Given the description of an element on the screen output the (x, y) to click on. 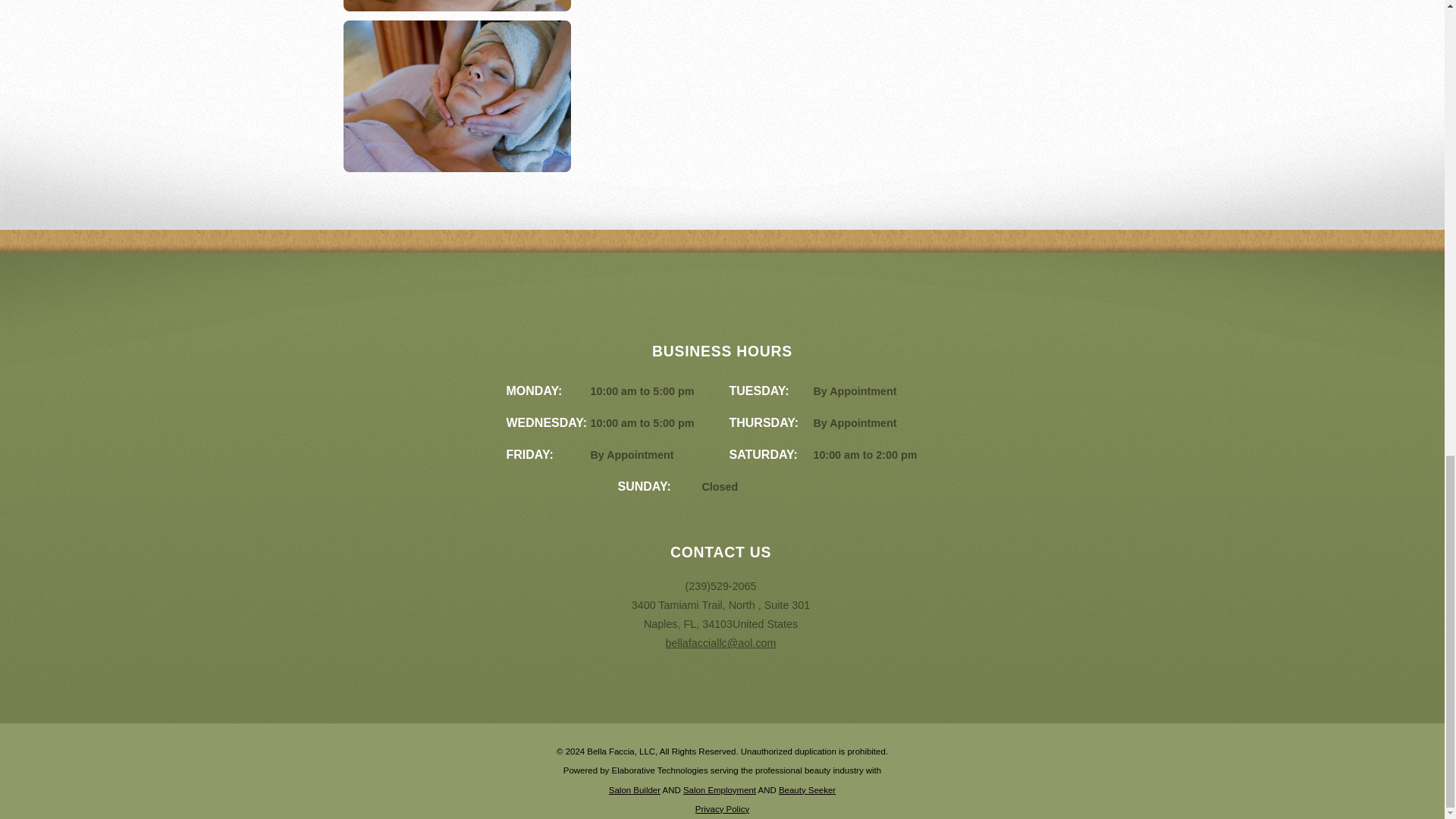
Salon Employment - Salon Jobs and Spa Jobs (718, 789)
Salon Builder (634, 789)
Salon Builder - Salon Websites and Spa Websites (634, 789)
Beauty Seeker (806, 789)
Salons, Spas, Health and Beauty Services in the USA (806, 789)
Privacy Policy (722, 809)
Salon Employment (718, 789)
